Given the description of an element on the screen output the (x, y) to click on. 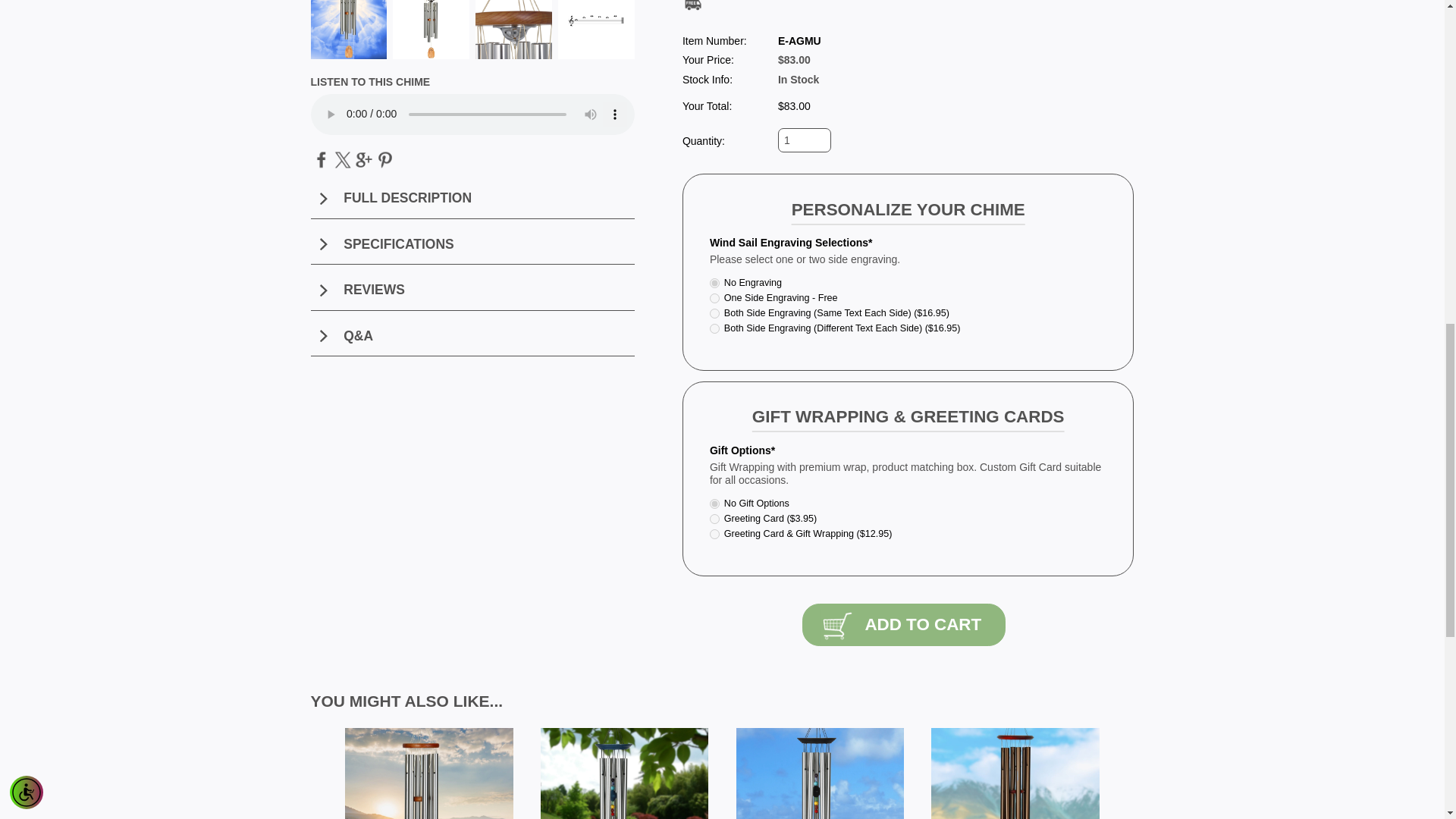
Add to Cart (904, 624)
1 (804, 139)
wrap-855f89da2fba349db27ea5333c7d7232 (714, 519)
wrap-cad7ab47f8ed5ae2b9546ce715b1f21f (714, 503)
Amazing Grace 25 Inch Silver Wind Chime - Engravable Sail (429, 773)
wrap-a1180a74e9487935e4f06df3feeca482 (714, 533)
Add to Cart (904, 624)
